Given the description of an element on the screen output the (x, y) to click on. 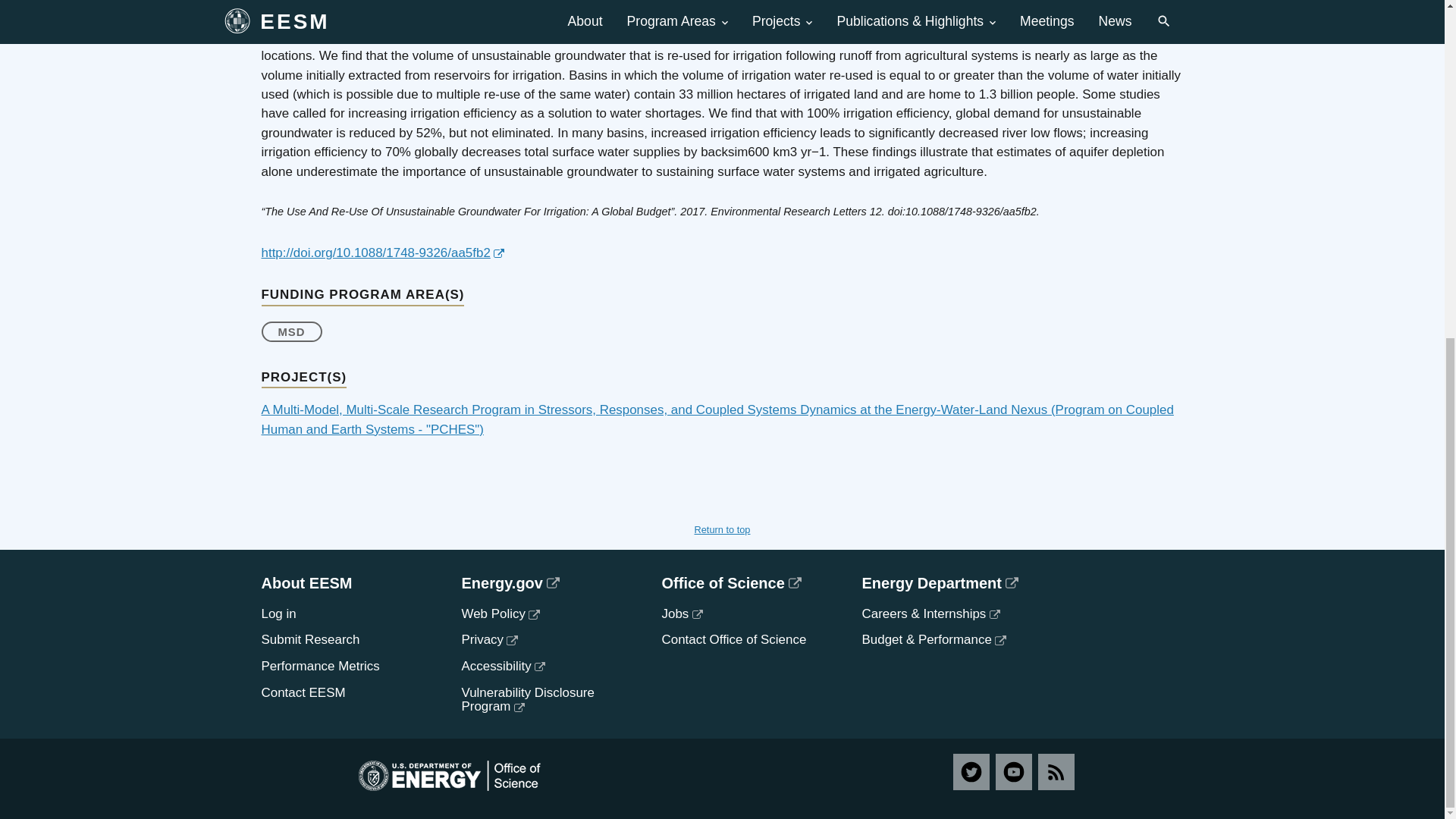
Contact Office of Science (733, 639)
MultiSector Dynamics (290, 331)
Return to top (722, 529)
Jobs (681, 613)
Energy Department (948, 583)
Privacy (488, 639)
Log in (277, 613)
MSD (290, 331)
Energy.gov (549, 583)
About EESM (348, 583)
Submit Research (309, 639)
U.S. Department of Energy Vulnerability Disclosure Program (527, 699)
Performance Metrics (319, 666)
Web Policy (499, 613)
Office of Science (749, 583)
